Given the description of an element on the screen output the (x, y) to click on. 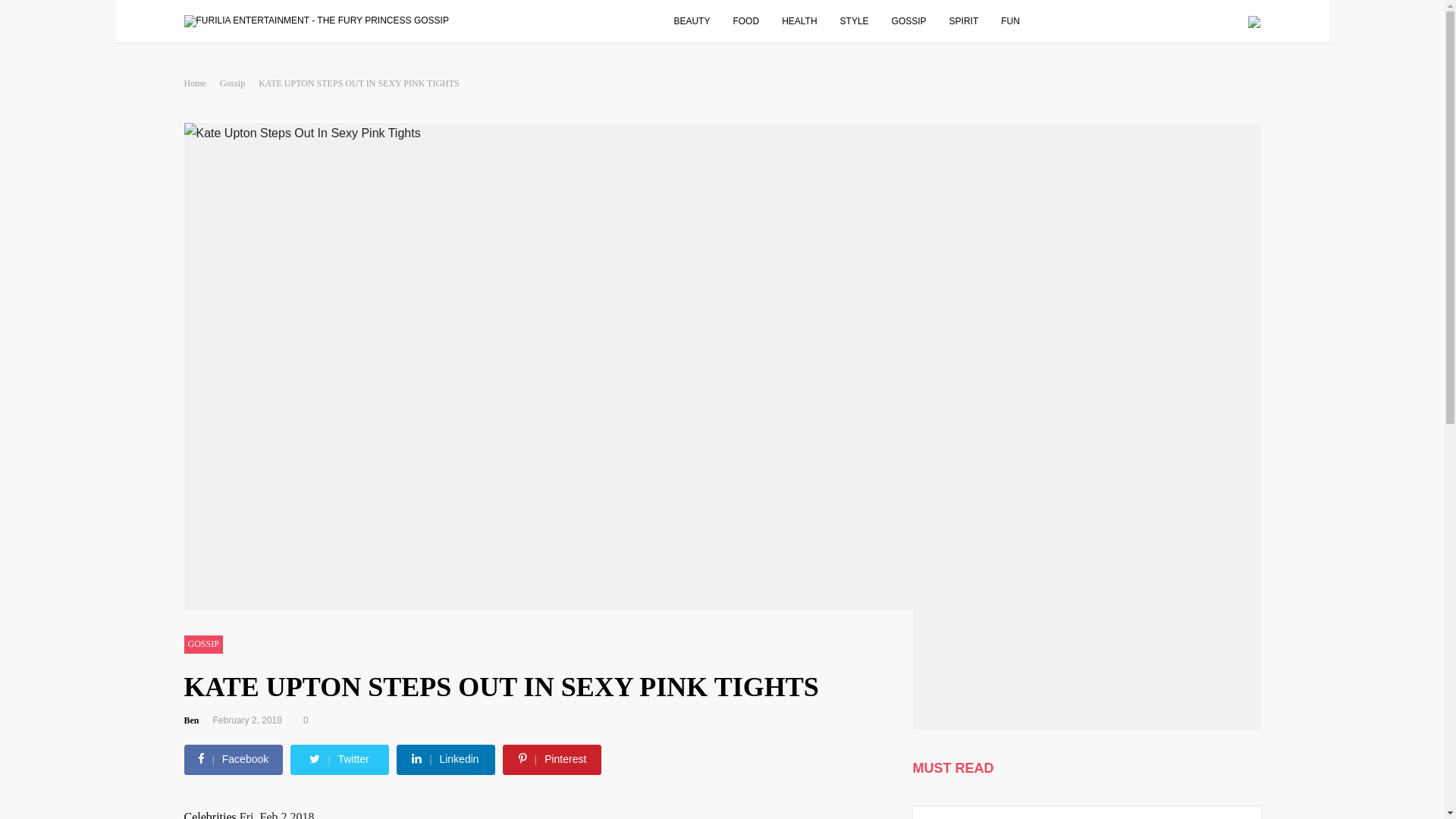
BEAUTY (698, 20)
GOSSIP (202, 644)
Ben (196, 719)
Home (199, 82)
GOSSIP (916, 20)
STYLE (861, 20)
FOOD (753, 20)
Pinterest (552, 758)
SPIRIT (971, 20)
Gossip (237, 82)
